Given the description of an element on the screen output the (x, y) to click on. 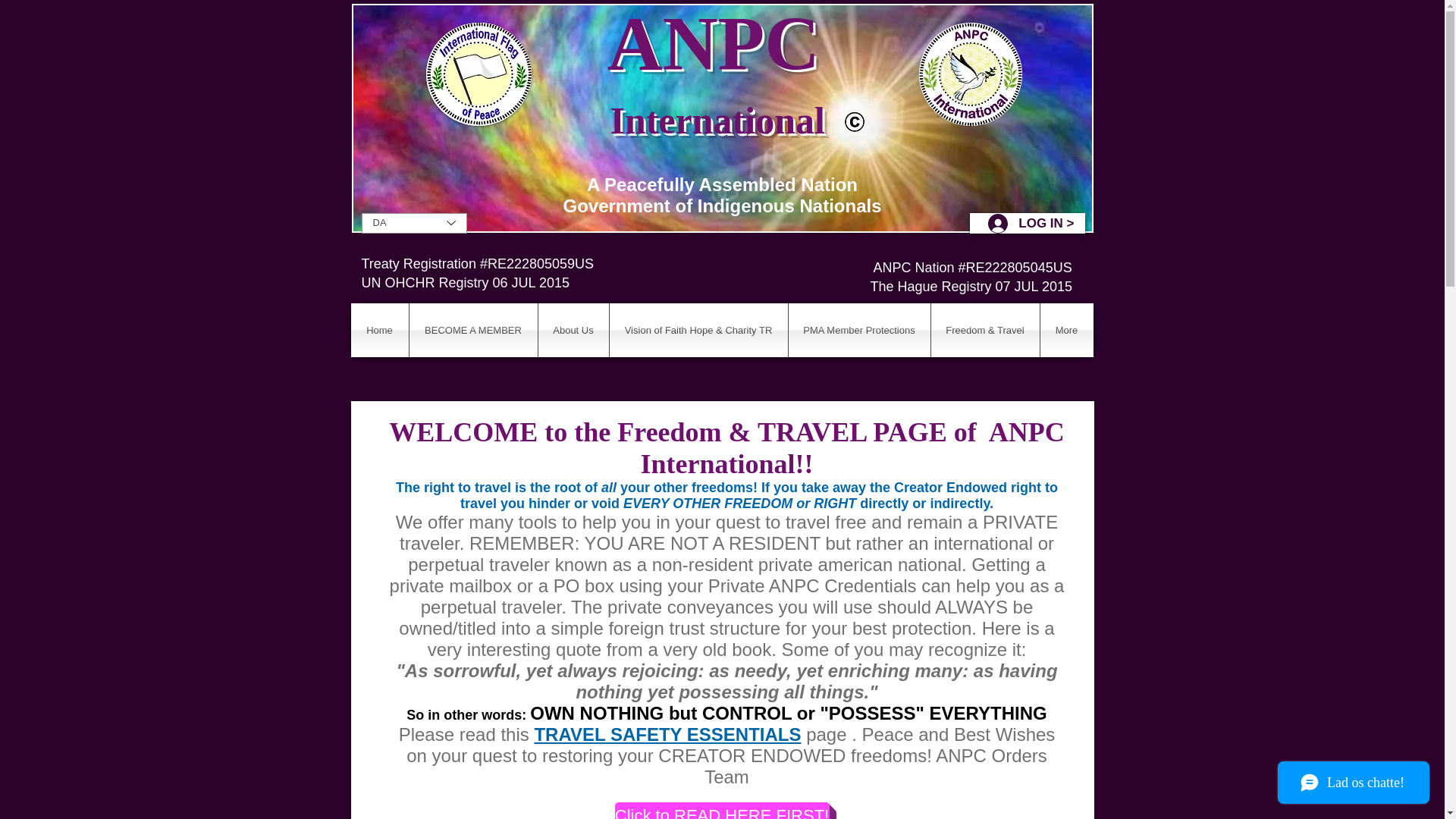
AmericanNationals (478, 74)
About Us (573, 330)
BECOME A MEMBER (473, 330)
Click to READ HERE FIRST! (721, 810)
American Nationals (970, 74)
TRAVEL SAFETY ESSENTIALS (667, 733)
PMA Member Protections (859, 330)
Home (378, 330)
Copyright.png (854, 121)
